Given the description of an element on the screen output the (x, y) to click on. 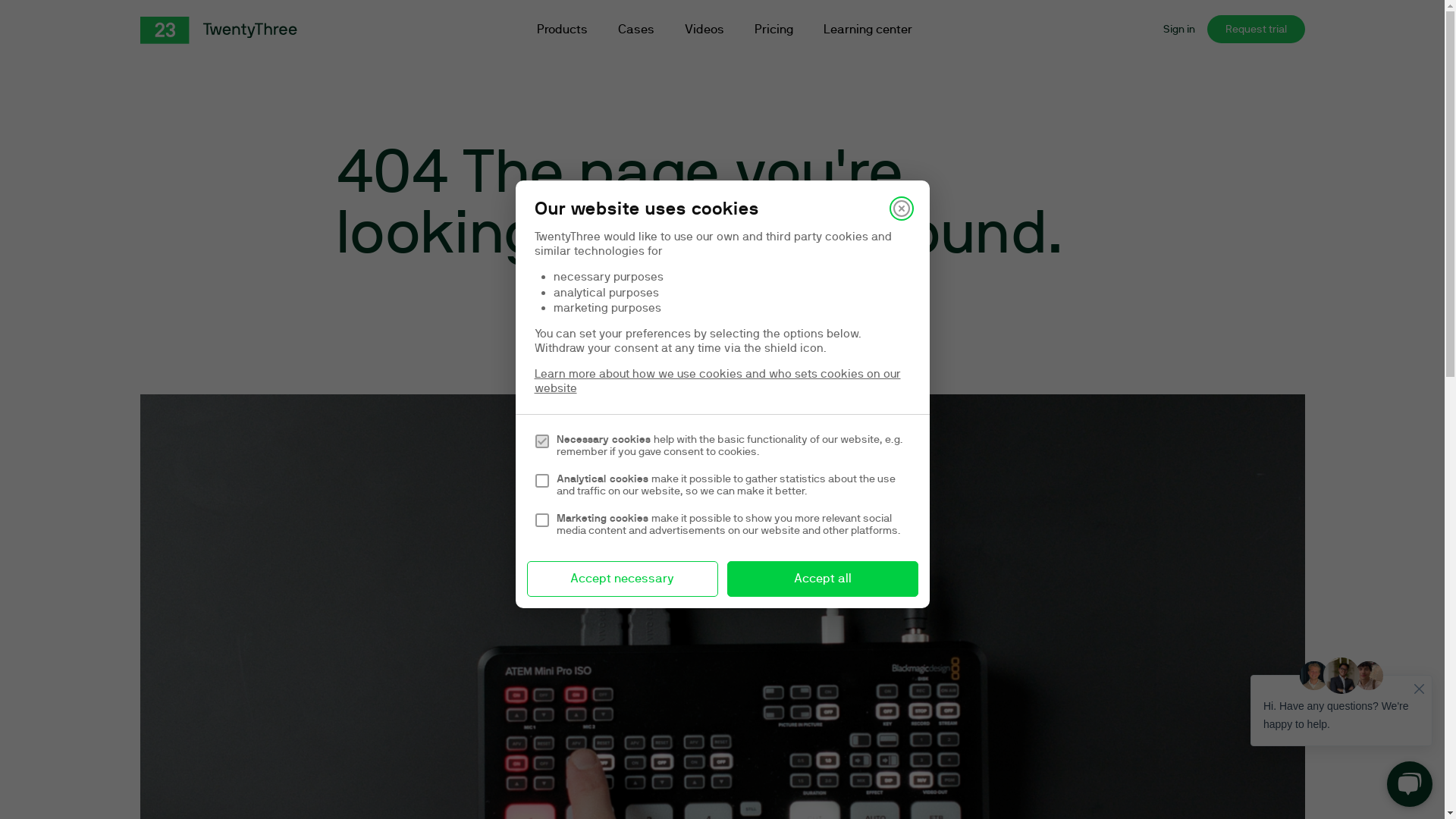
Learning center Element type: text (867, 30)
Request trial Element type: text (1256, 29)
Accept necessary Element type: text (621, 578)
Accept all Element type: text (821, 578)
TwentyThree Element type: text (218, 29)
Videos Element type: text (703, 30)
Pricing Element type: text (772, 30)
Sign in Element type: text (1179, 29)
Cases Element type: text (635, 30)
